Given the description of an element on the screen output the (x, y) to click on. 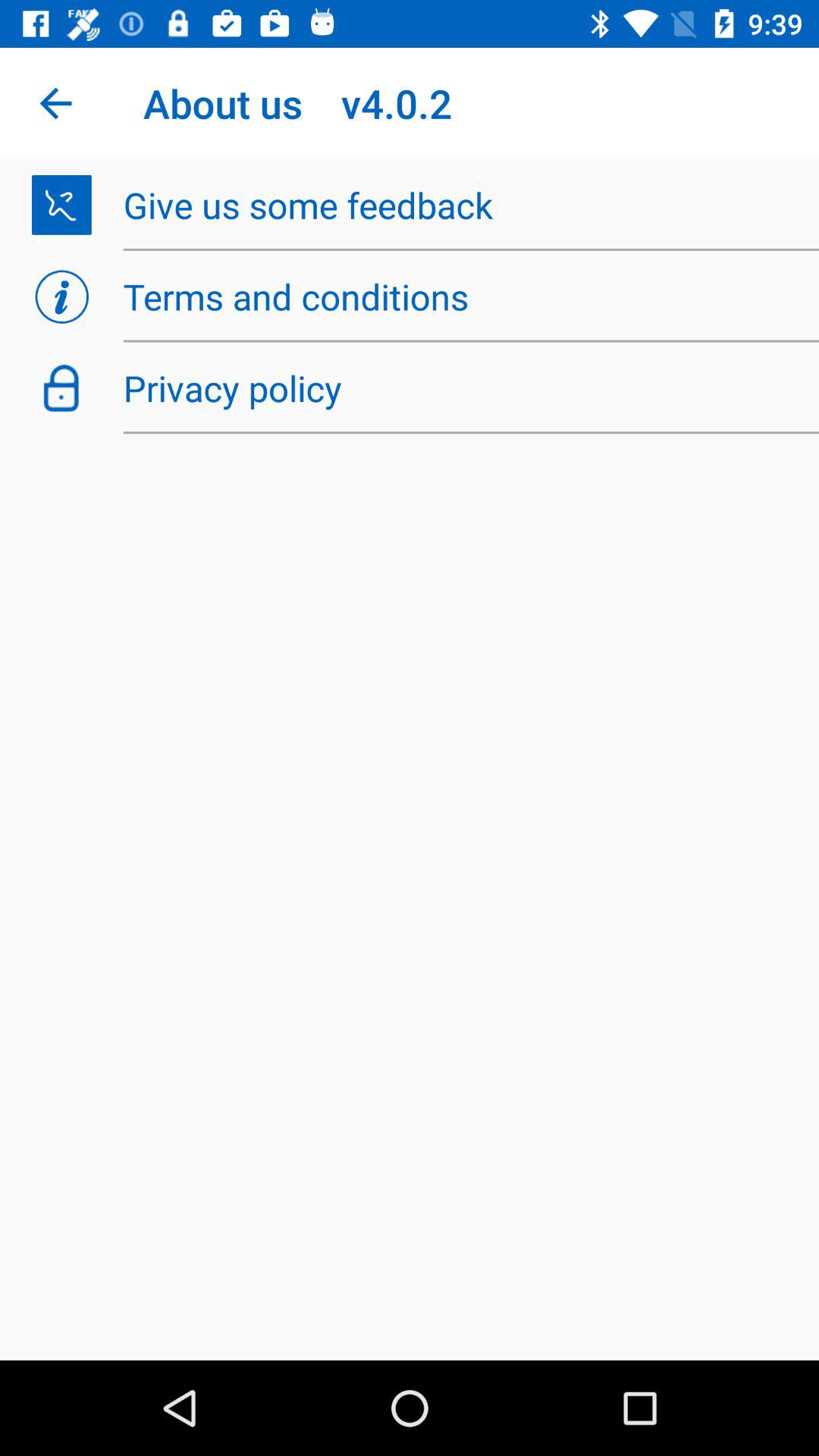
swipe until terms and conditions item (463, 296)
